Given the description of an element on the screen output the (x, y) to click on. 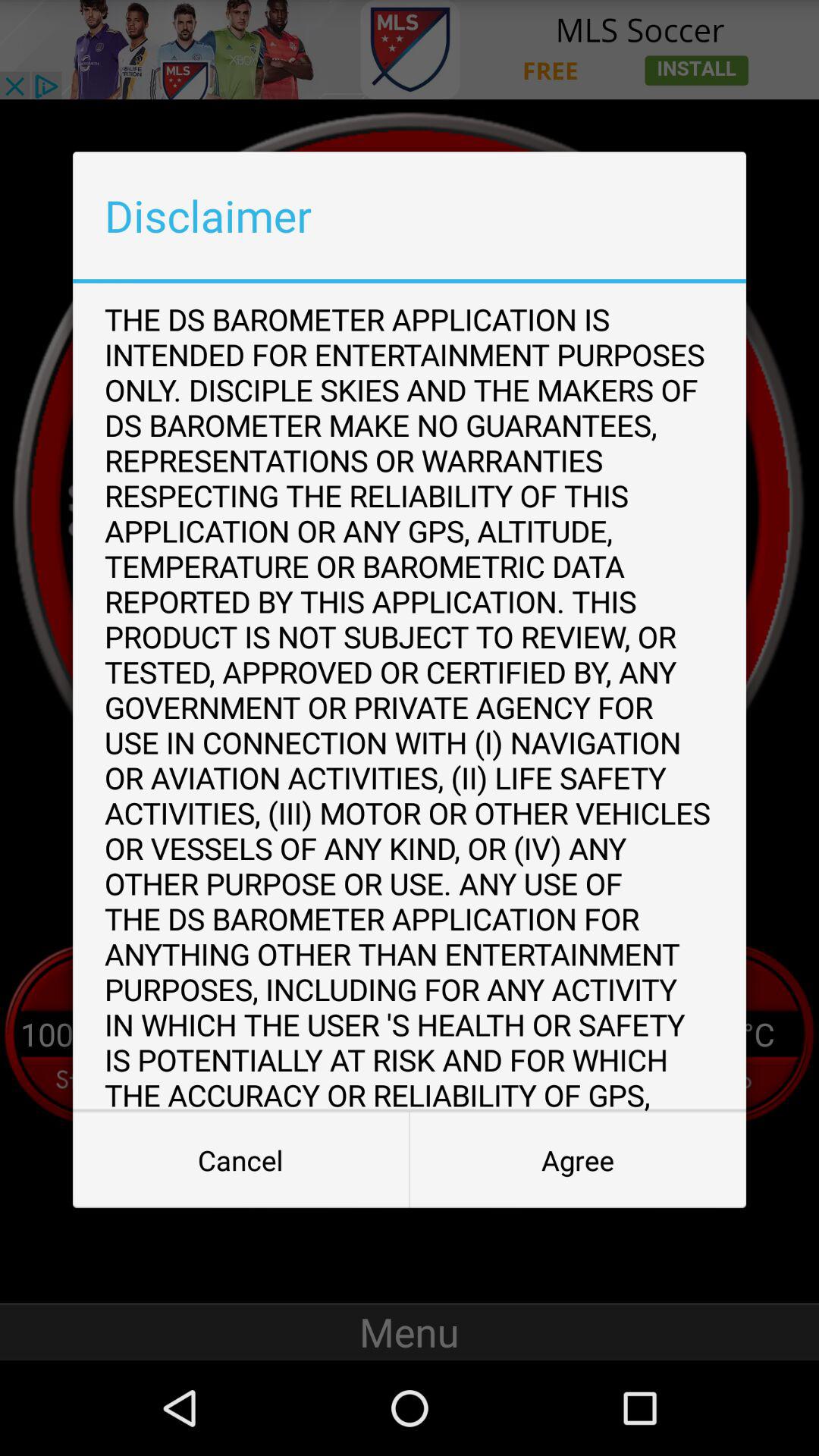
turn on the button next to cancel icon (578, 1160)
